Given the description of an element on the screen output the (x, y) to click on. 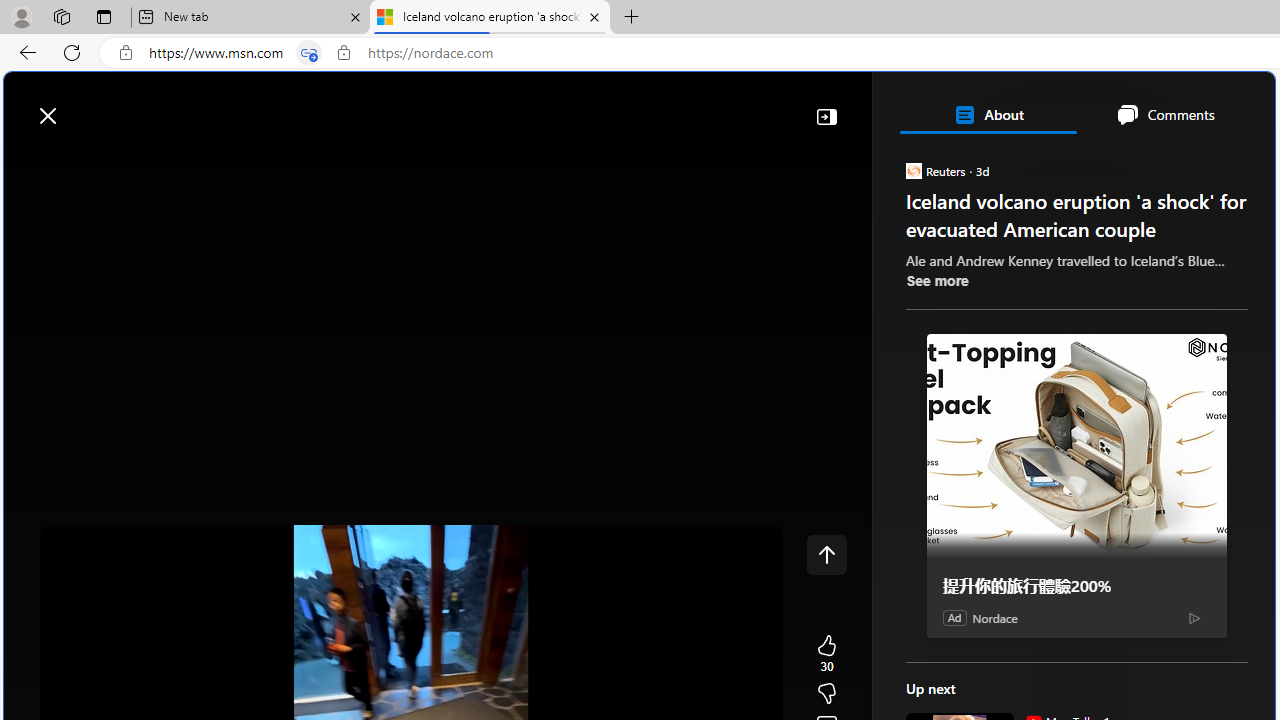
Web search (283, 105)
The Associated Press (974, 645)
Love dogs? We do, too. (1084, 288)
